Given the description of an element on the screen output the (x, y) to click on. 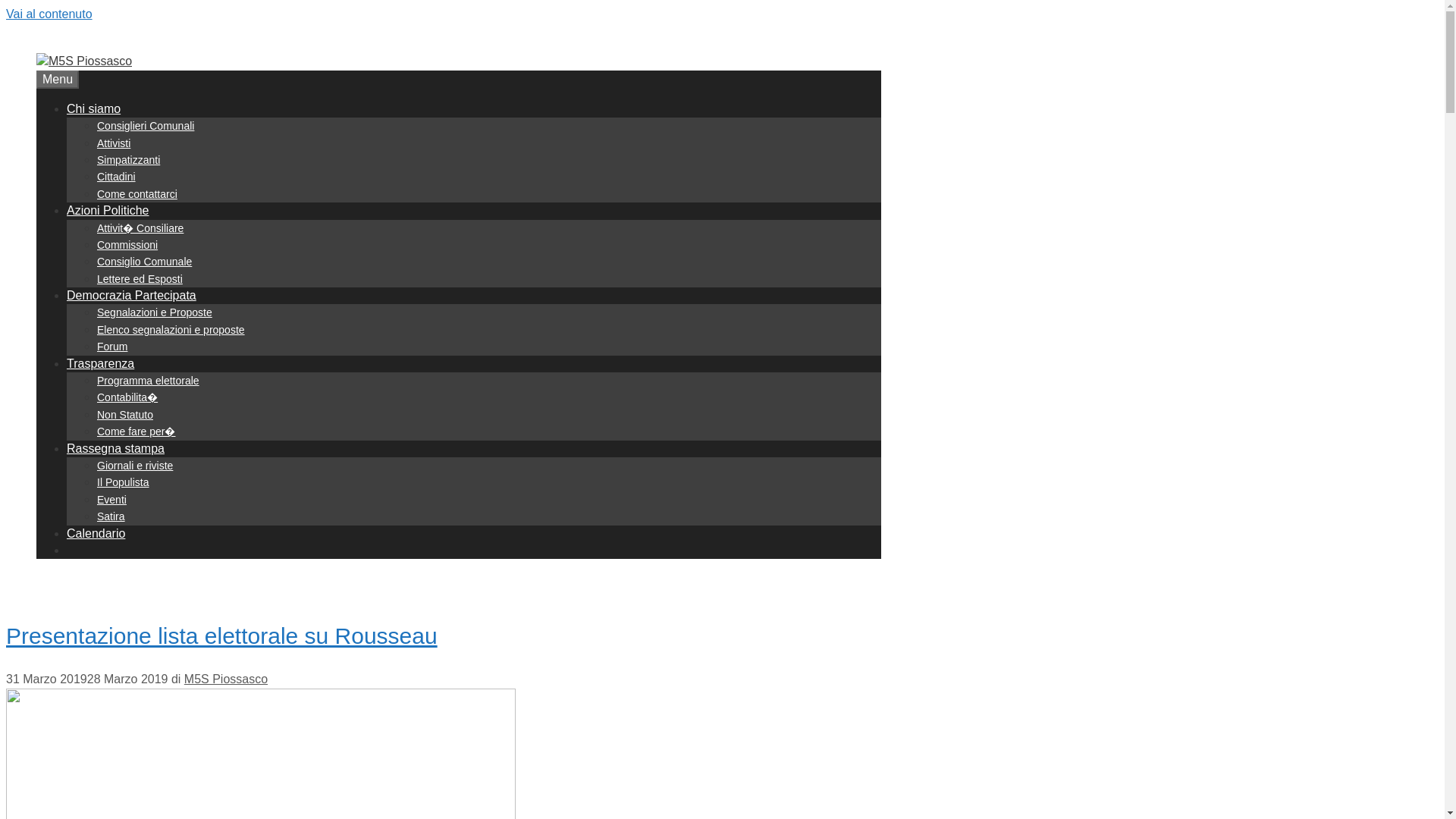
Menu (57, 79)
Satira (111, 516)
Chi siamo (93, 108)
Visualizza tutti gli articoli di M5S Piossasco (225, 678)
Eventi (111, 499)
Presentazione lista elettorale su Rousseau (221, 635)
Calendario (95, 533)
Simpatizzanti (128, 159)
Segnalazioni e Proposte (154, 312)
Elenco segnalazioni e proposte (170, 329)
